Given the description of an element on the screen output the (x, y) to click on. 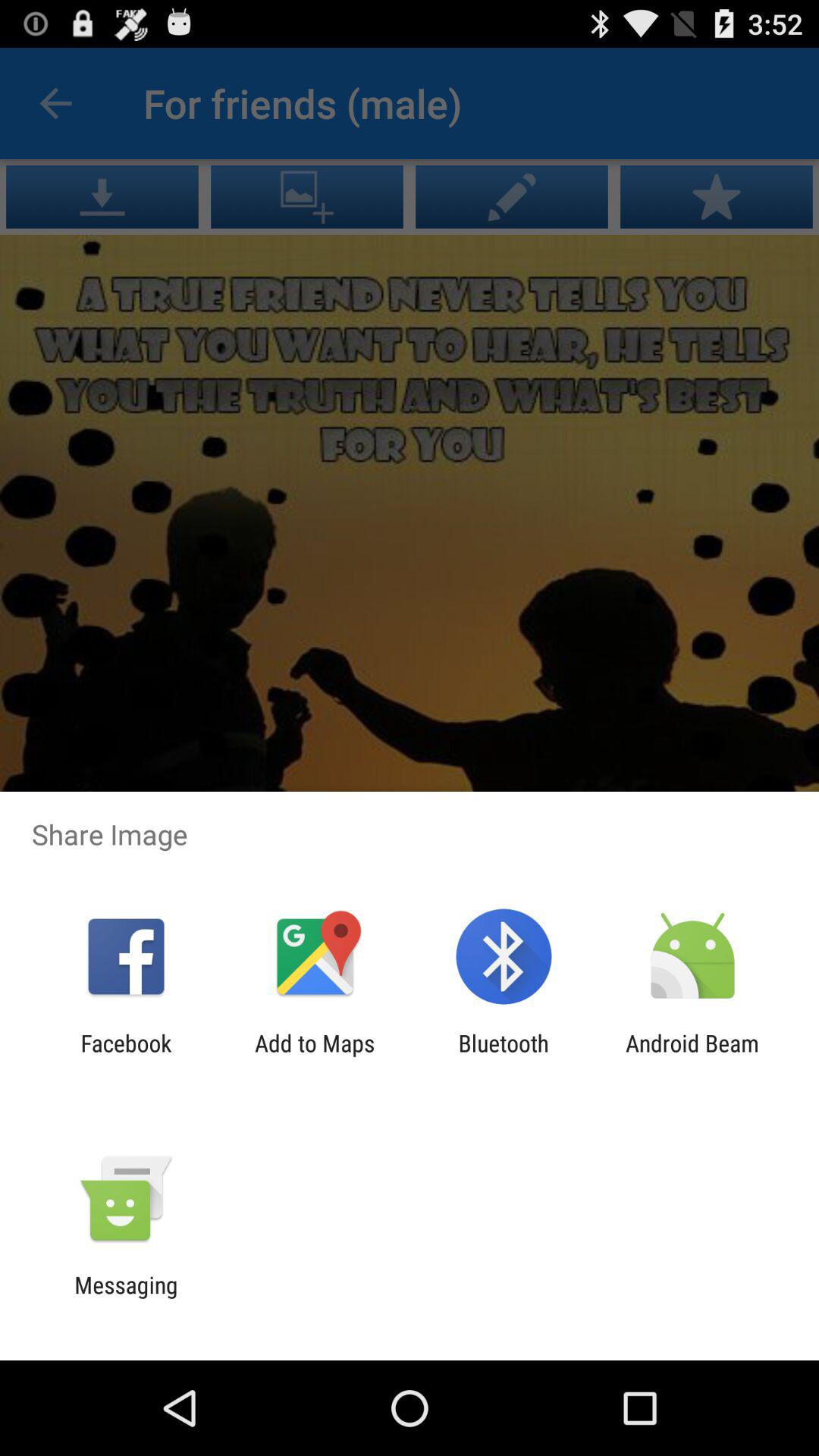
turn off add to maps item (314, 1056)
